Given the description of an element on the screen output the (x, y) to click on. 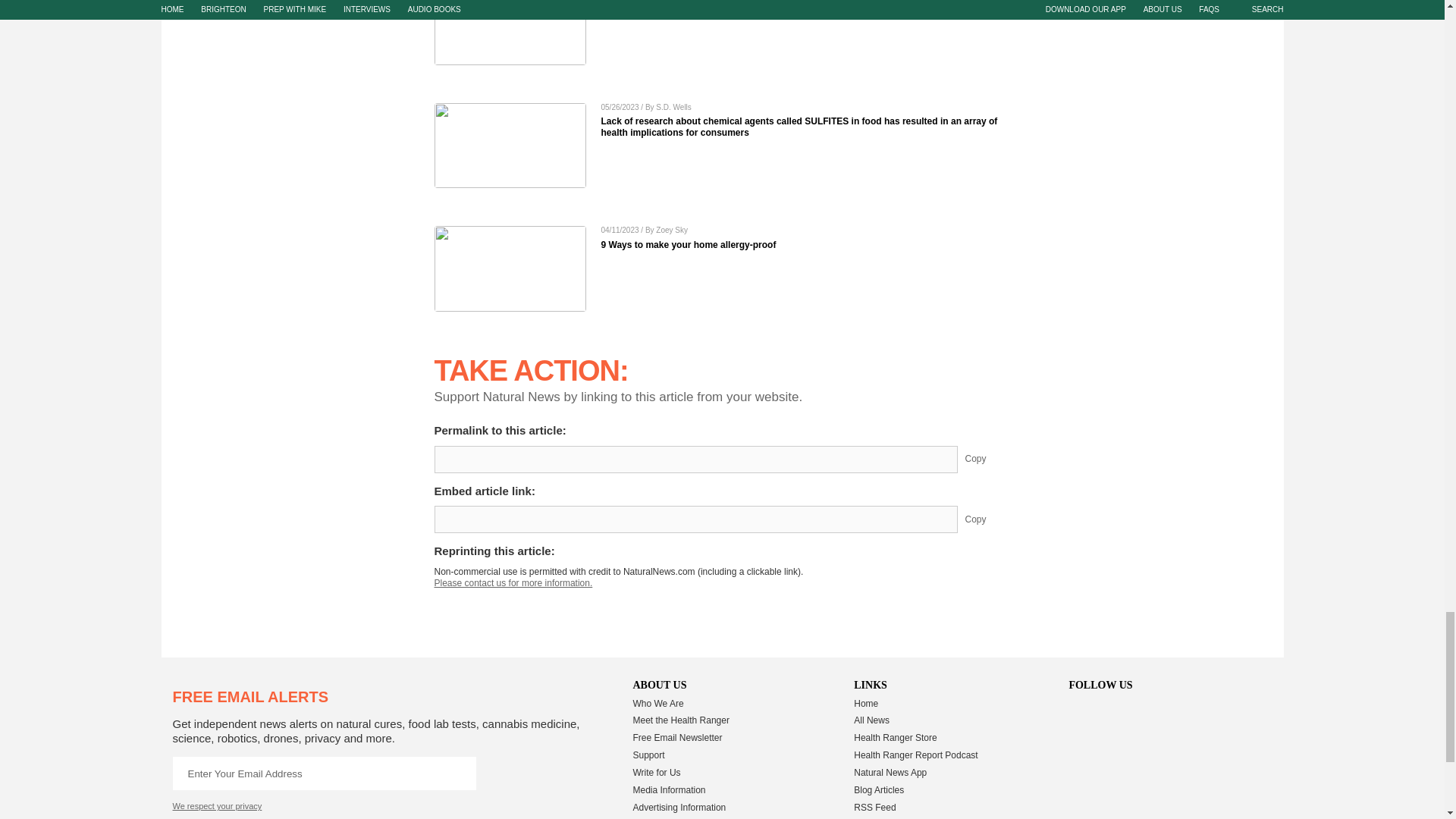
Continue (459, 773)
Copy Embed Link (986, 519)
Copy Permalink (986, 459)
